Given the description of an element on the screen output the (x, y) to click on. 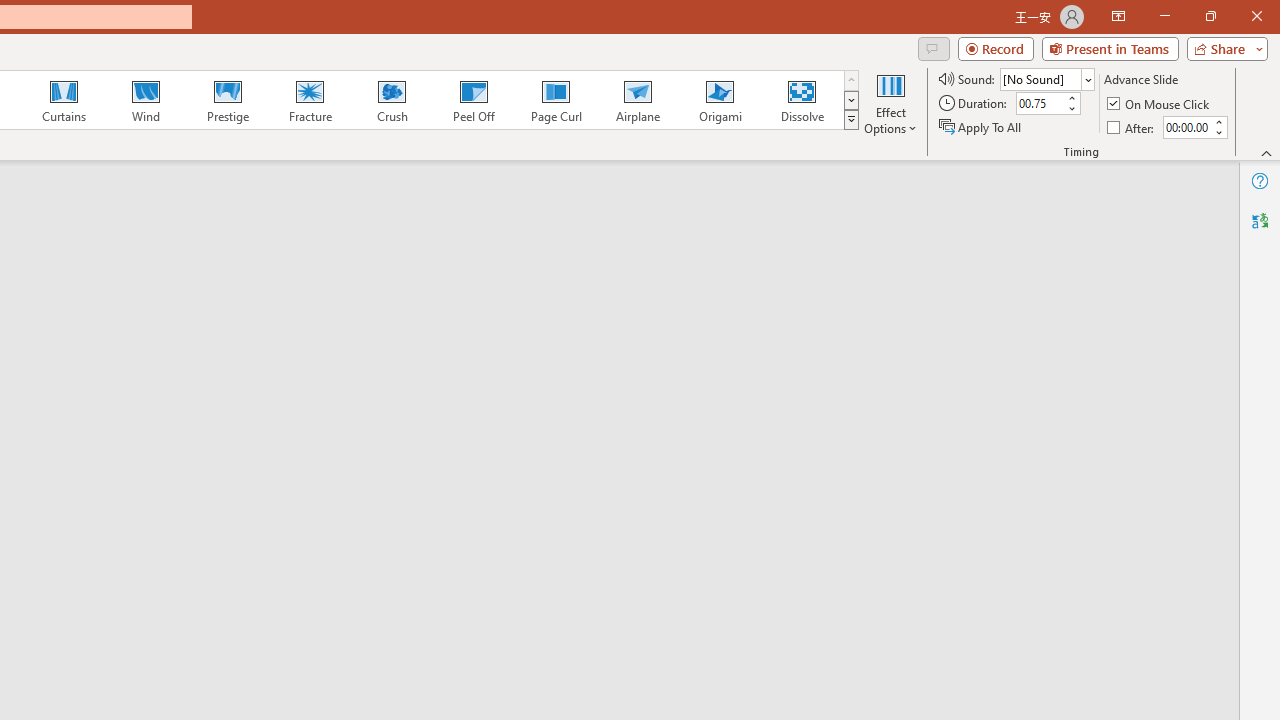
Fracture (309, 100)
On Mouse Click (1159, 103)
